Given the description of an element on the screen output the (x, y) to click on. 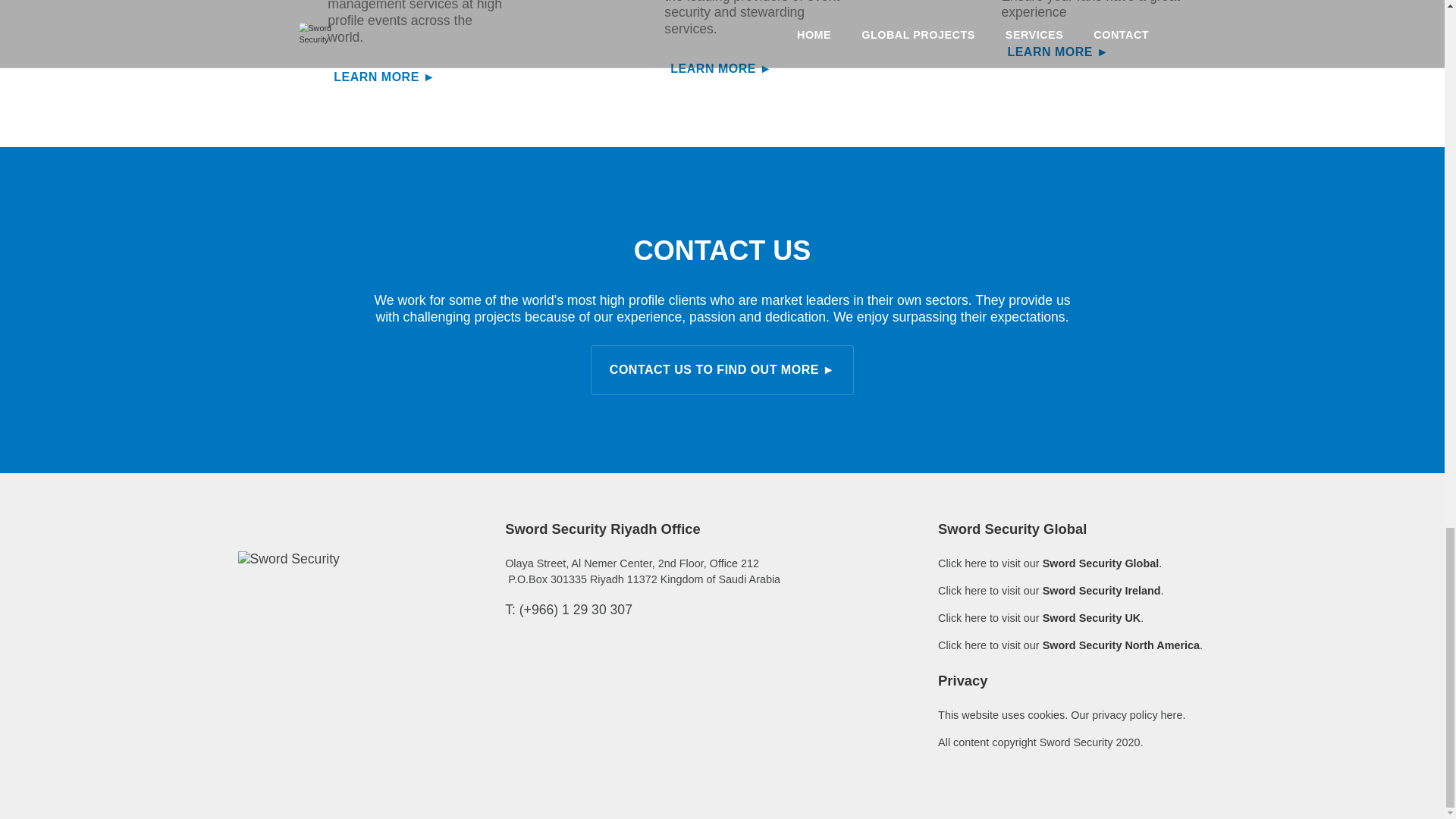
Sword Security UK (1091, 617)
CONTACT US TO FIND OUT MORE (722, 369)
Sword Security Global (1100, 563)
Sword Security North America (1120, 645)
LEARN MORE (418, 76)
LEARN MORE (1091, 52)
Sword Security Ireland (1101, 590)
LEARN MORE (754, 68)
